Given the description of an element on the screen output the (x, y) to click on. 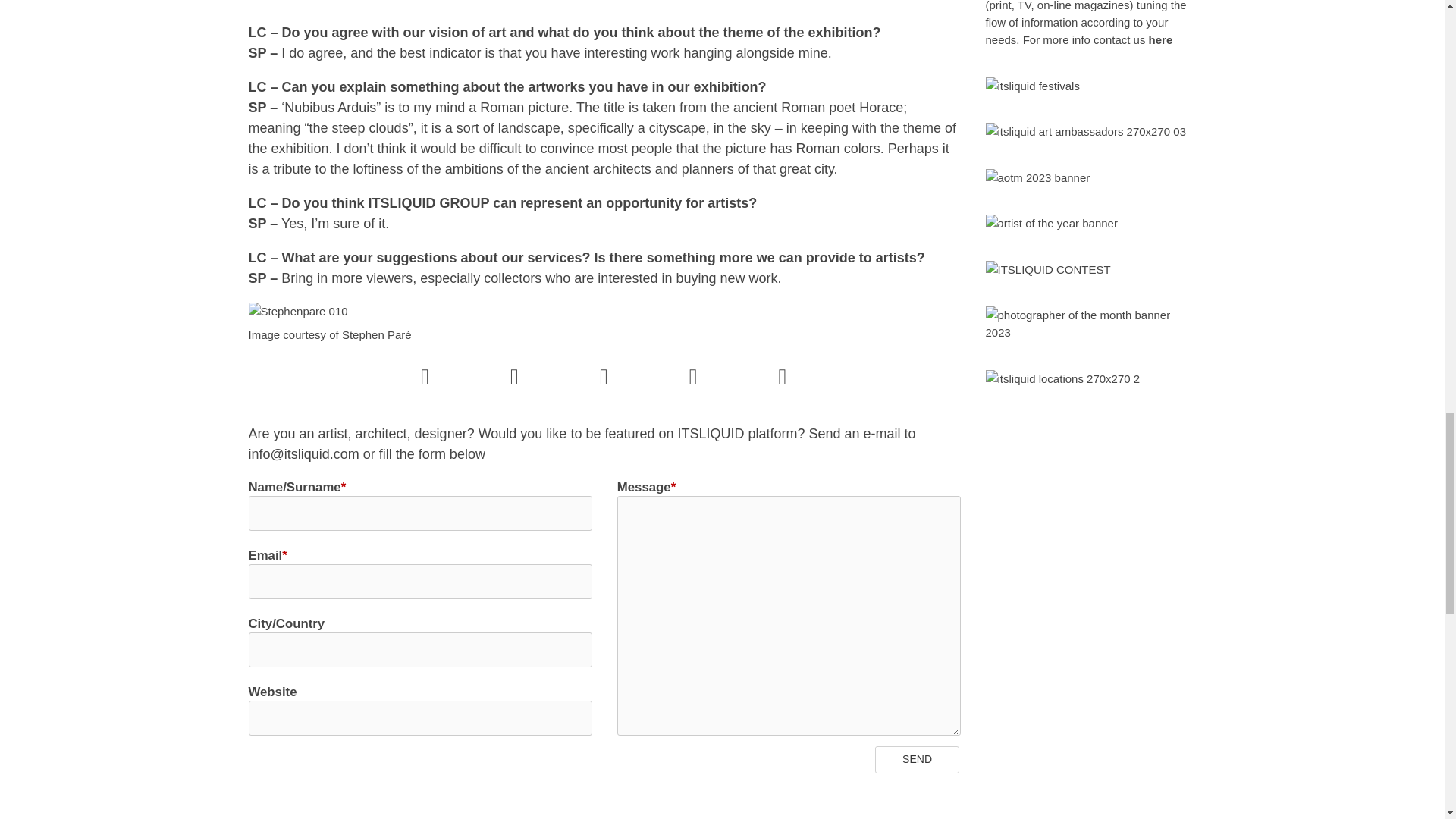
Send (917, 759)
